Given the description of an element on the screen output the (x, y) to click on. 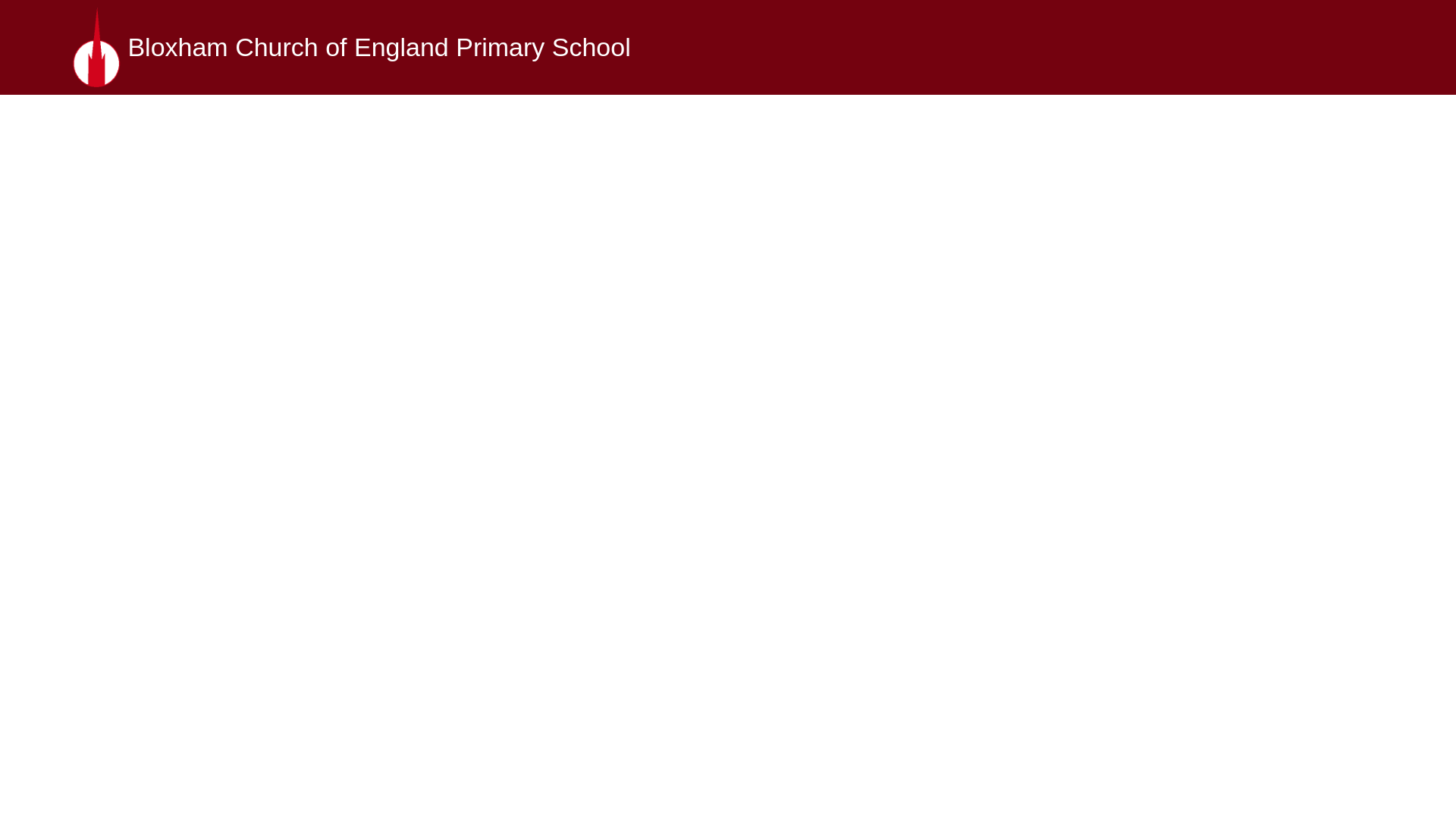
Bloxham Church of England Primary School (351, 46)
